Given the description of an element on the screen output the (x, y) to click on. 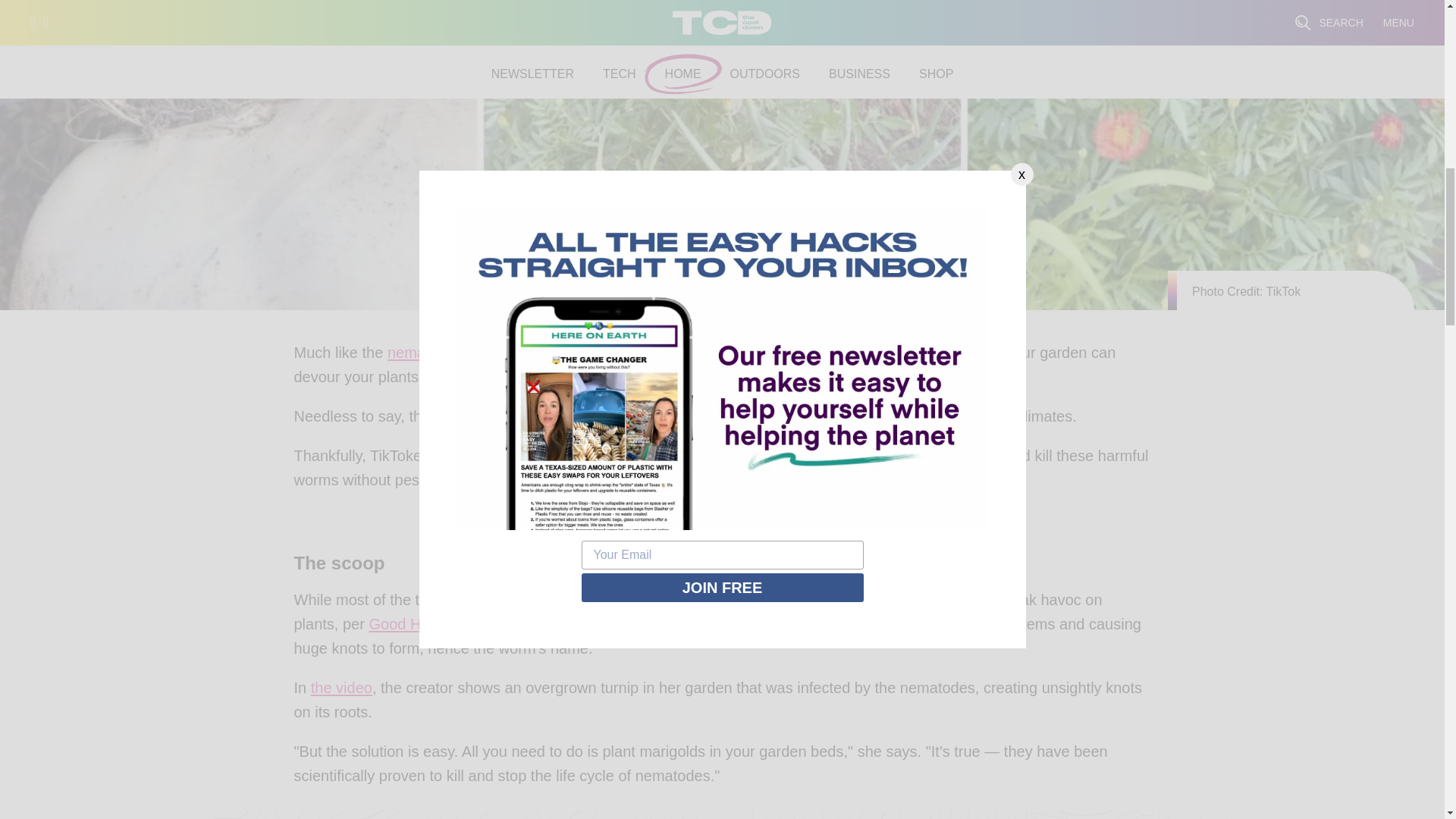
growyourownfood (555, 524)
pest (956, 419)
nematodes in "Spongebob" (478, 355)
sustainability (891, 512)
organicgardening (717, 512)
gardeningtips (810, 512)
TheZenHenandTheHoneyBee (531, 459)
